Given the description of an element on the screen output the (x, y) to click on. 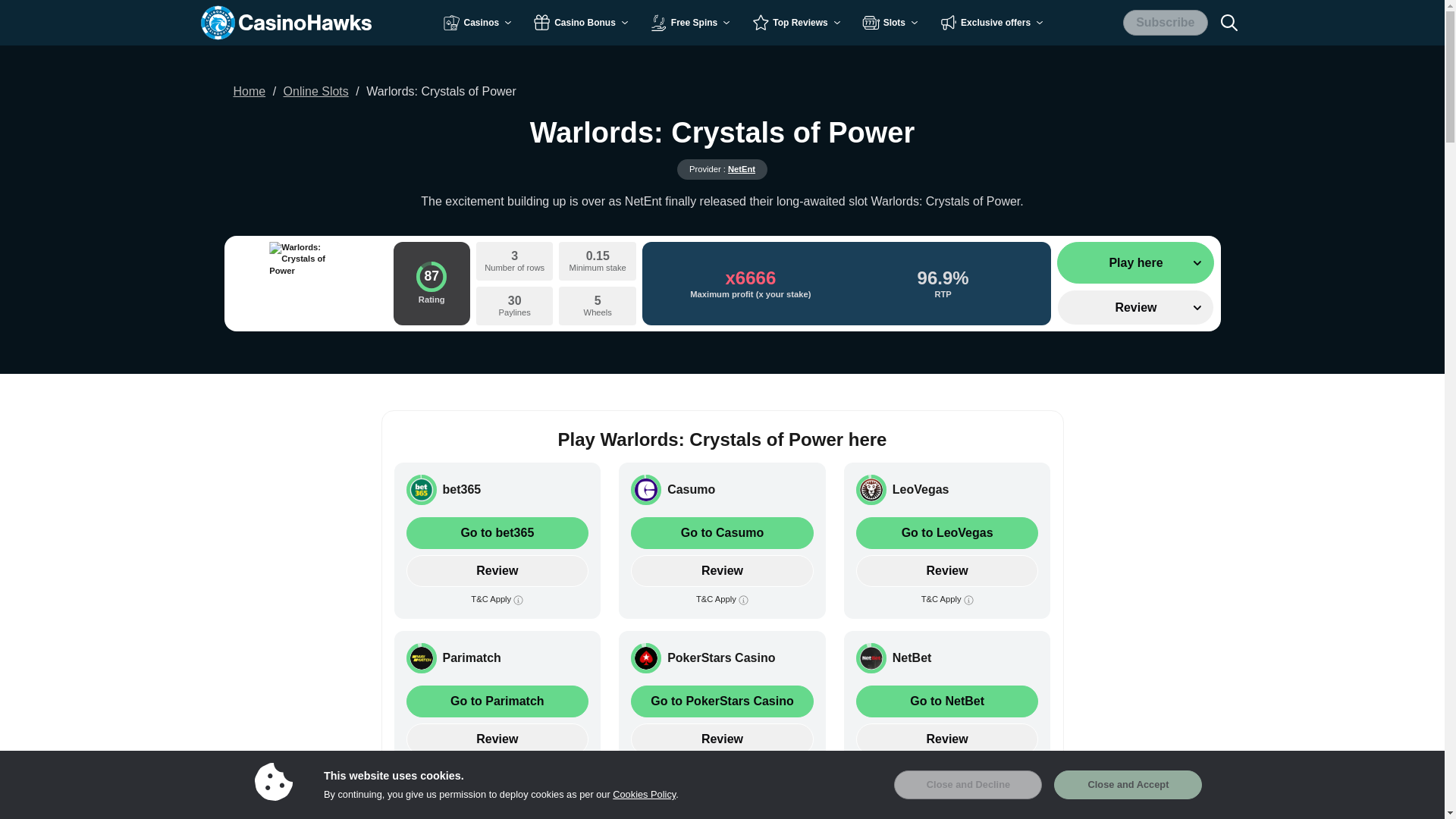
Slots (891, 22)
Free Spins (691, 22)
Top Reviews (797, 22)
Casinos (478, 22)
Casino Bonus (581, 22)
